Given the description of an element on the screen output the (x, y) to click on. 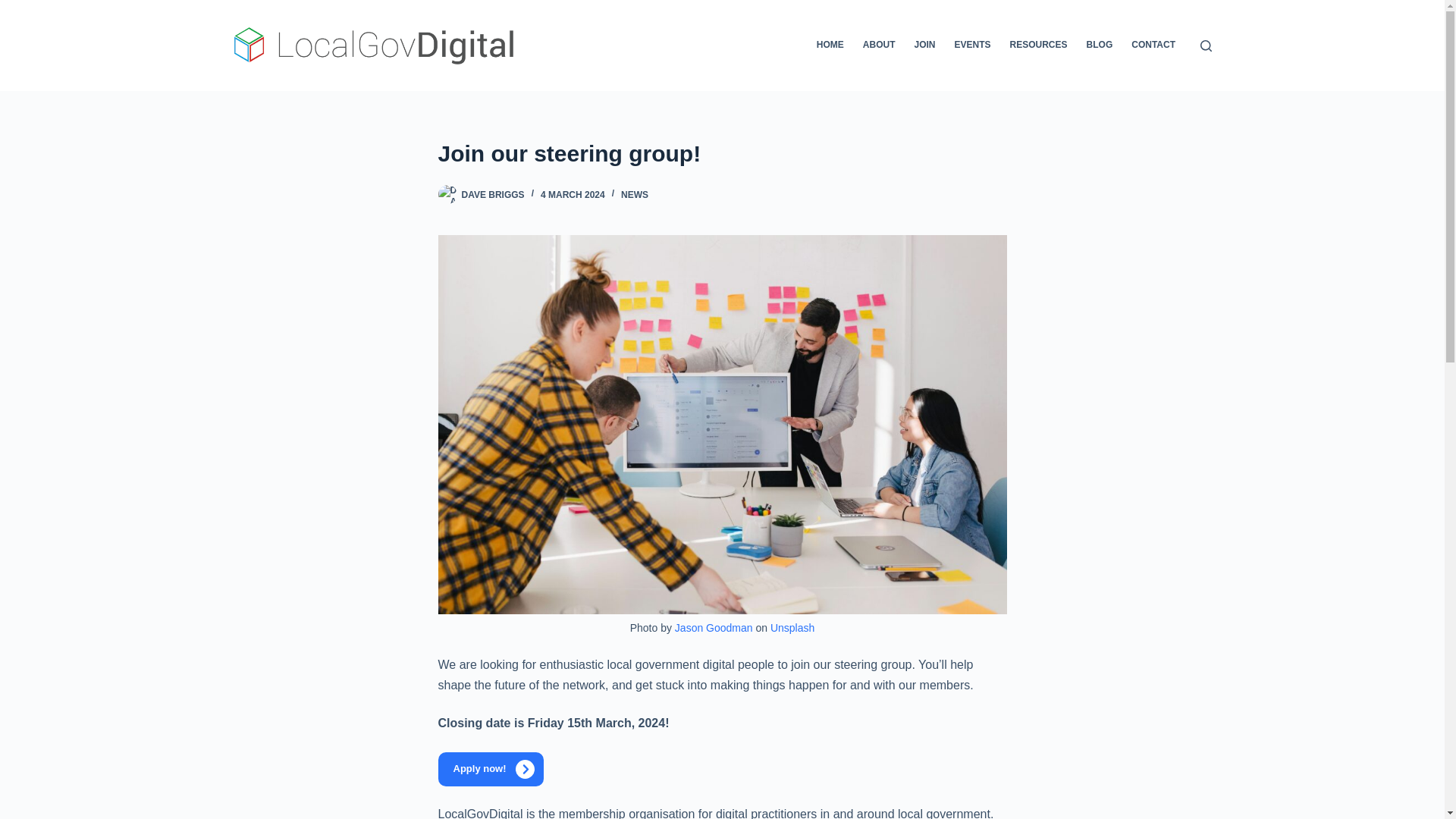
Jason Goodman (713, 627)
Apply now! (490, 769)
Skip to content (15, 7)
NEWS (634, 194)
Posts by Dave Briggs (492, 194)
Join our steering group! (722, 153)
Unsplash (791, 627)
DAVE BRIGGS (492, 194)
